Given the description of an element on the screen output the (x, y) to click on. 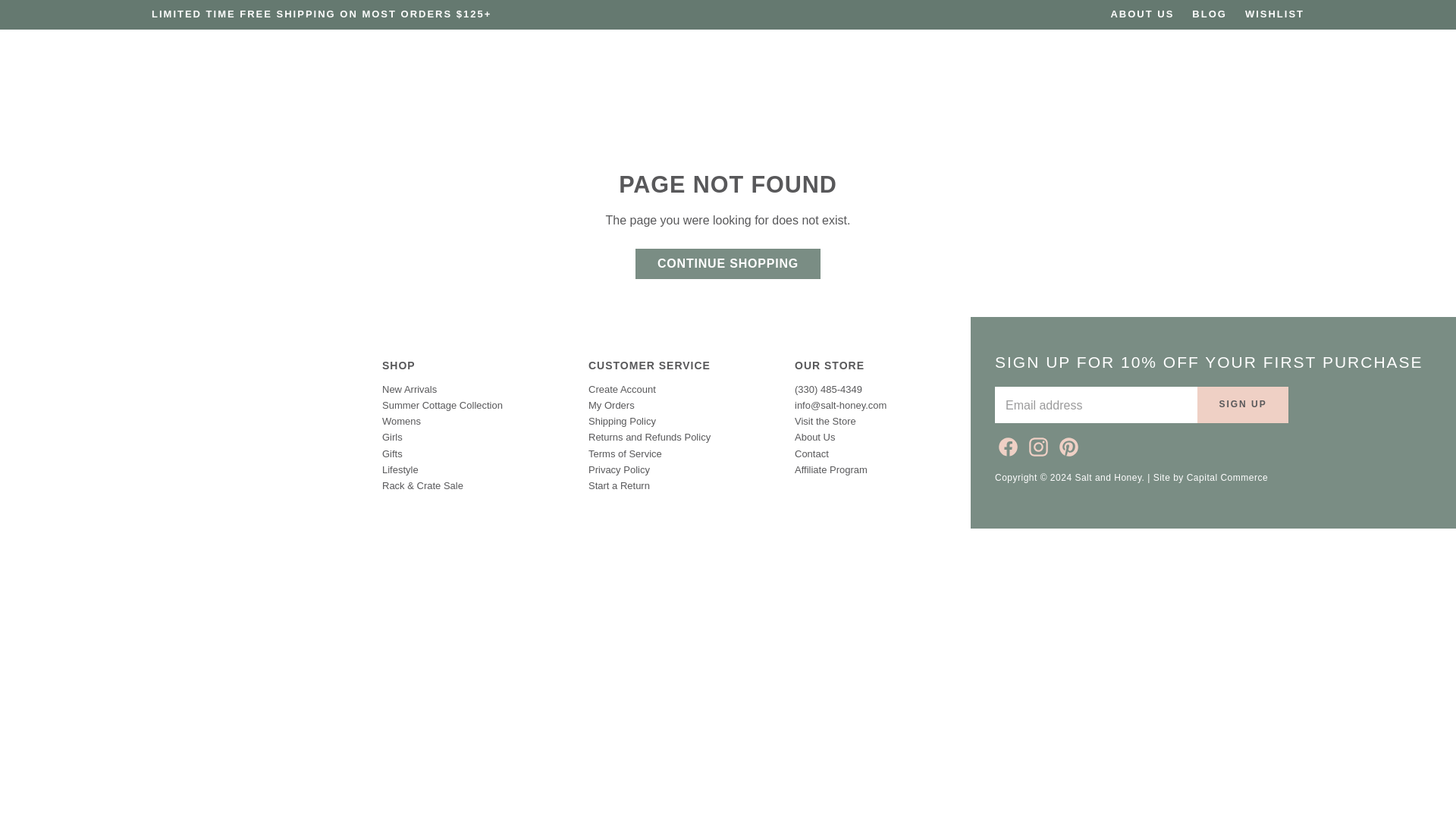
Facebook (1005, 443)
Instagram (1035, 443)
BLOG (1209, 14)
Pinterest (1066, 443)
ABOUT US (1141, 14)
WISHLIST (1274, 14)
